Given the description of an element on the screen output the (x, y) to click on. 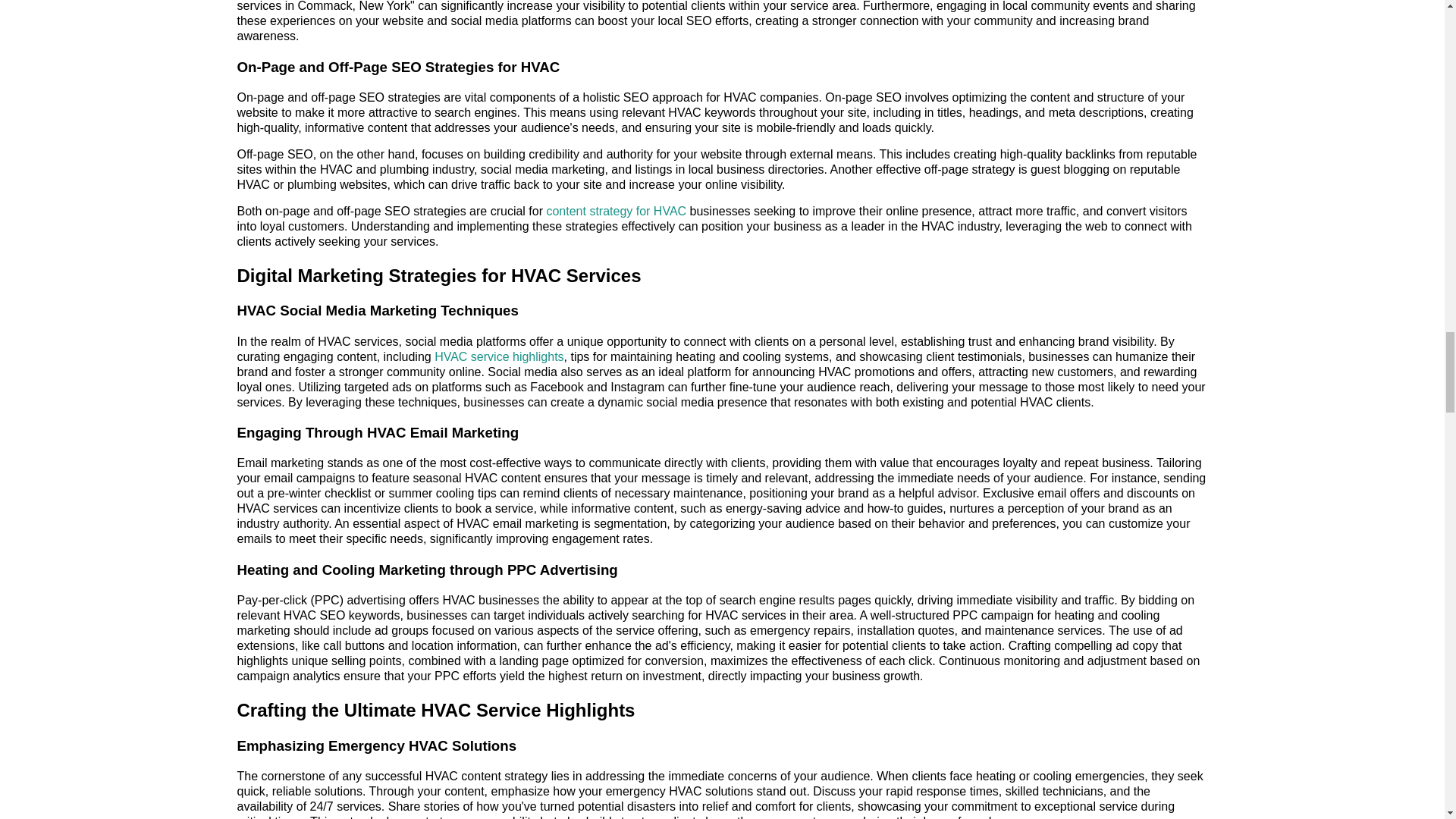
content strategy for HVAC (615, 210)
HVAC service highlights (498, 356)
